Given the description of an element on the screen output the (x, y) to click on. 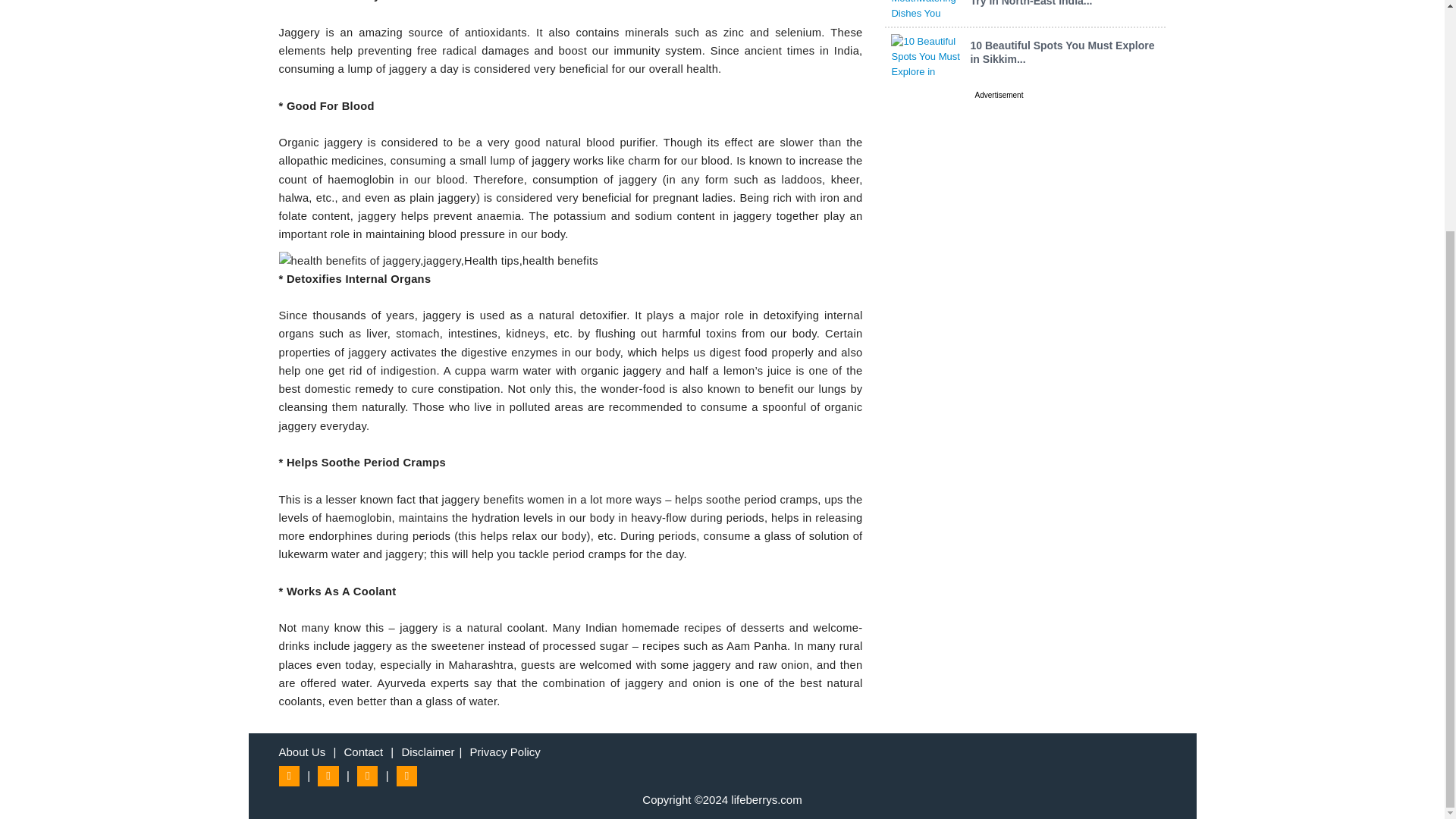
Contact (362, 751)
Privacy Policy (505, 751)
Disclaimer (427, 751)
10 Beautiful Spots You Must Explore in Sikkim... (1061, 52)
10 Mouthwatering Dishes You Can Try in North-East India... (1055, 3)
About Us (302, 751)
